Given the description of an element on the screen output the (x, y) to click on. 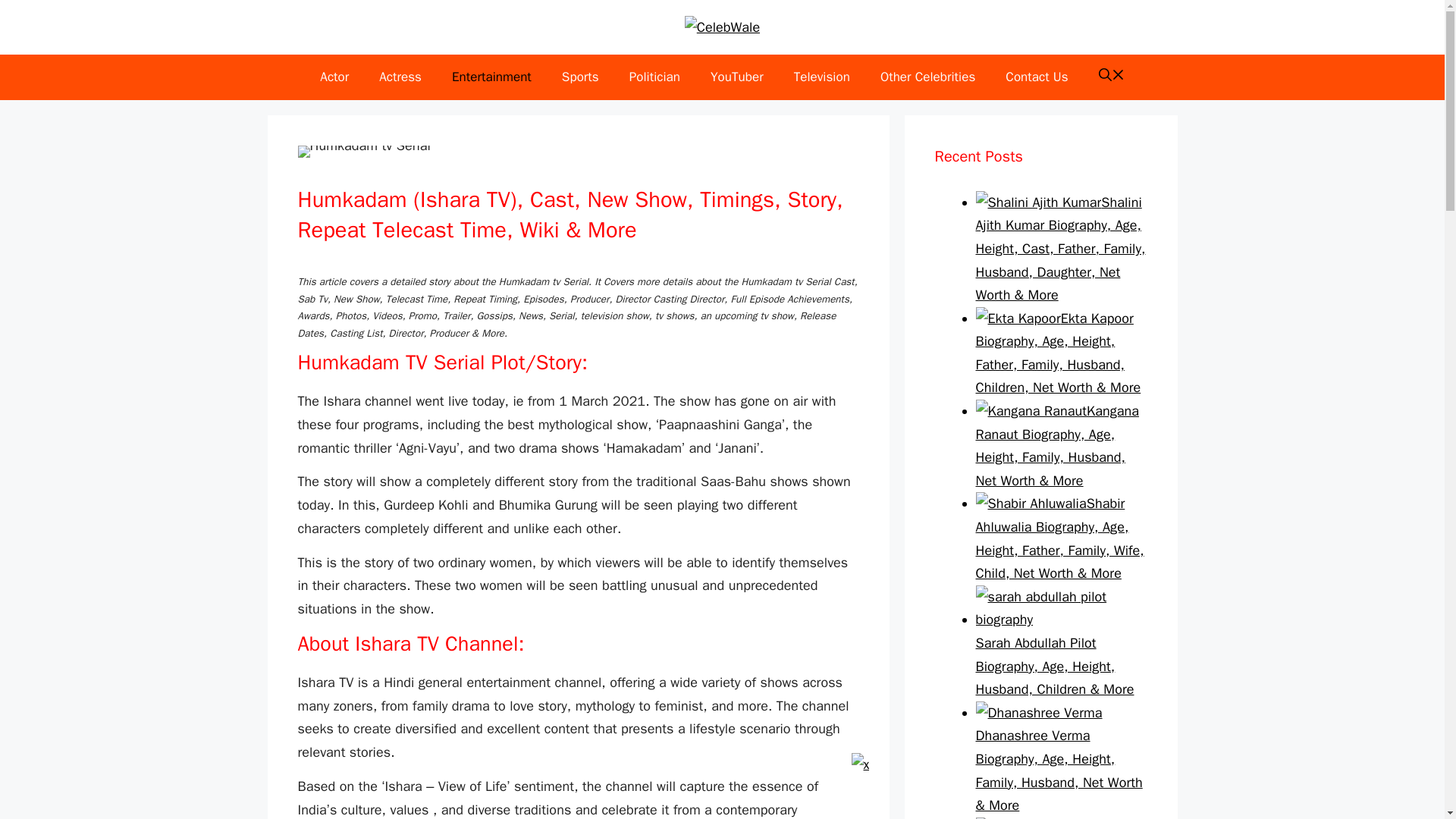
Politician (654, 76)
Sports (580, 76)
Other Celebrities (927, 76)
Entertainment (491, 76)
YouTuber (736, 76)
Television (821, 76)
Actor (334, 76)
Actress (400, 76)
Contact Us (1036, 76)
